Given the description of an element on the screen output the (x, y) to click on. 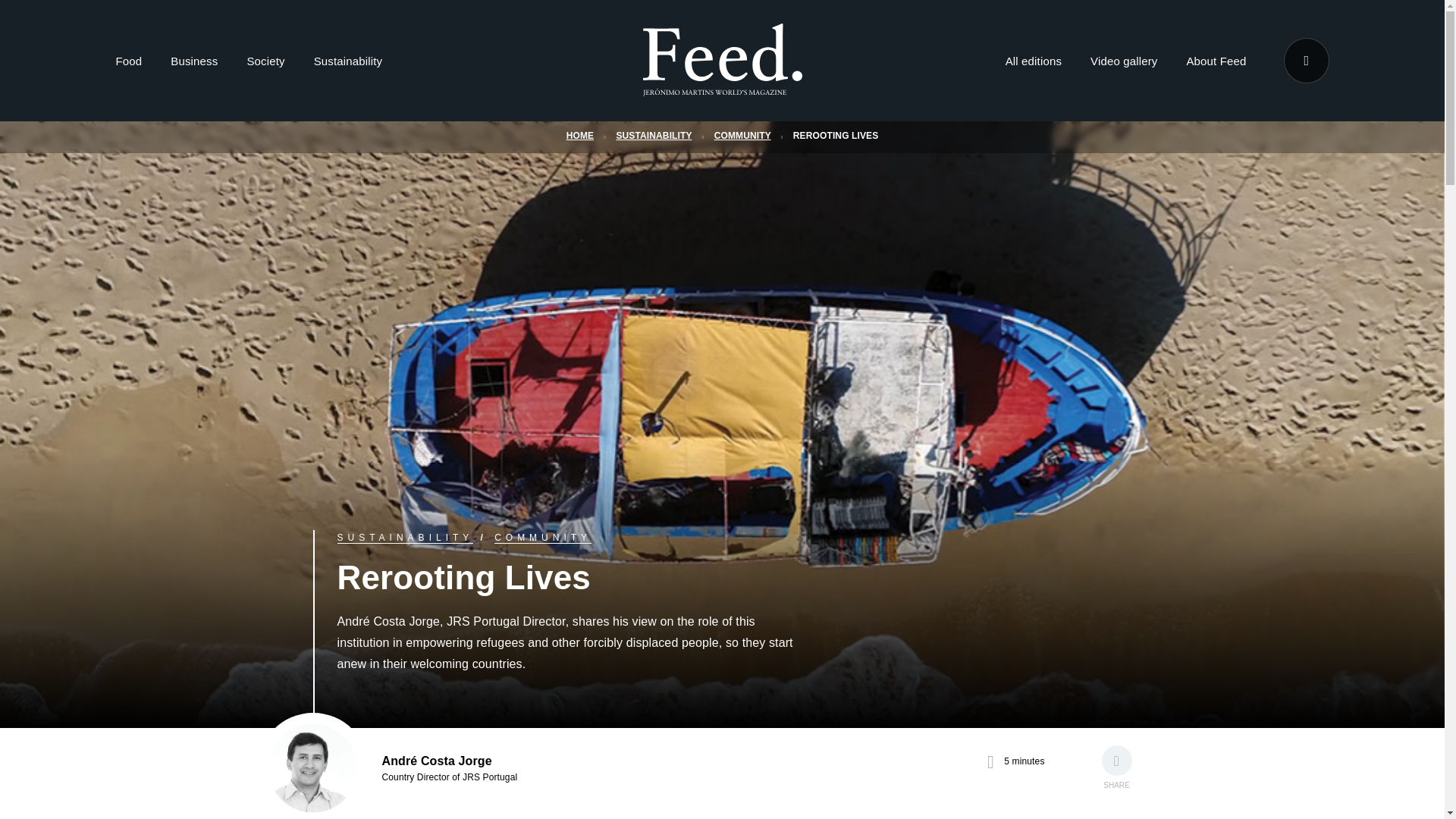
Go to homepage (722, 86)
Society (264, 63)
Homepage (722, 60)
All editions (1033, 63)
About Feed (1216, 63)
Video gallery (1123, 63)
Sustainability (347, 63)
Business (193, 63)
Food (128, 63)
Search (1304, 60)
